Given the description of an element on the screen output the (x, y) to click on. 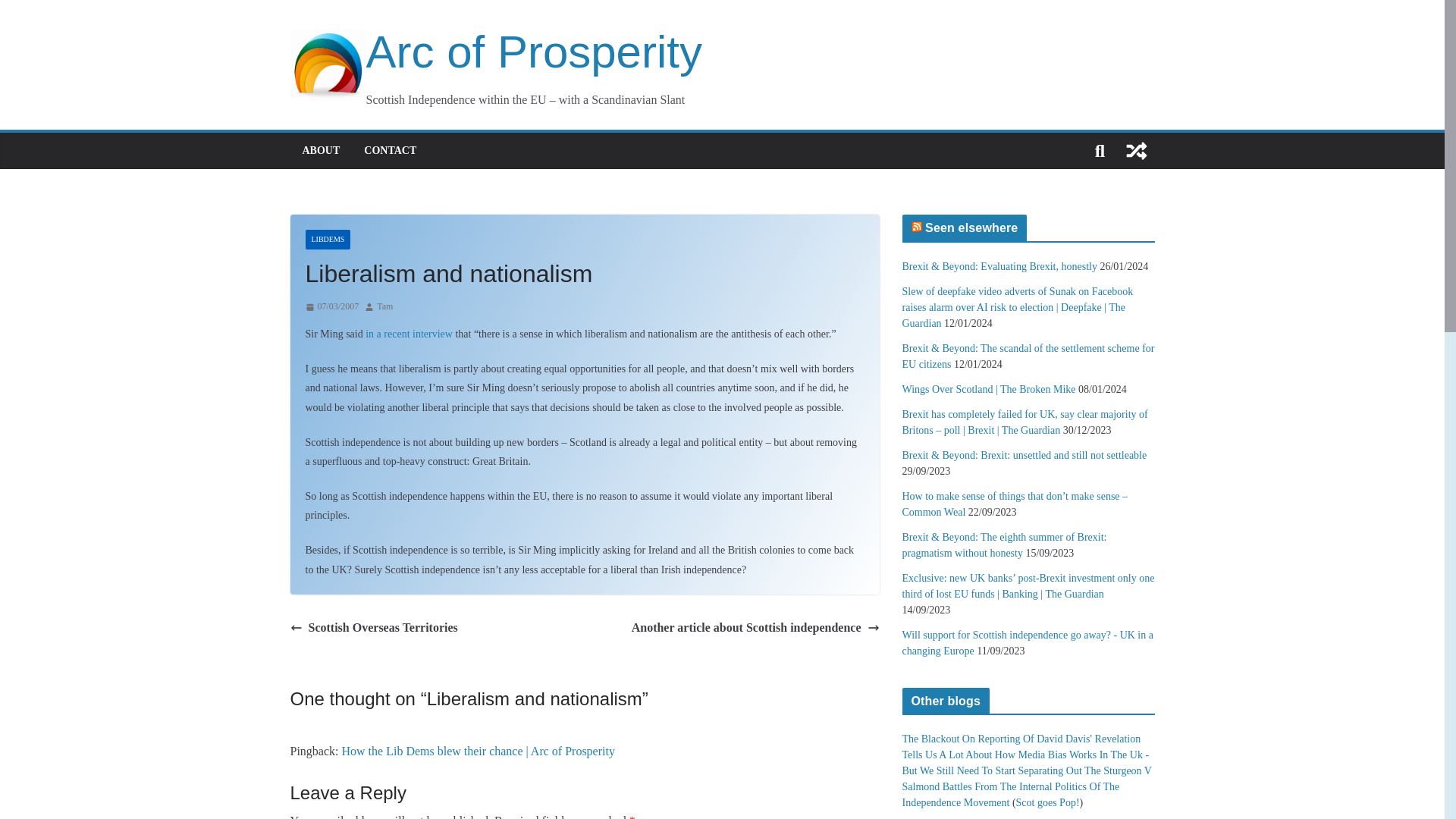
Tam (385, 306)
Scot goes Pop! (1048, 802)
View a random post (1136, 150)
LIBDEMS (327, 239)
ABOUT (320, 150)
Seen elsewhere (970, 227)
Arc of Prosperity (495, 51)
Scottish Overseas Territories (373, 628)
22:51 (331, 306)
Arc of Prosperity (495, 51)
CONTACT (390, 150)
Tam (385, 306)
Another article about Scottish independence (755, 628)
